Given the description of an element on the screen output the (x, y) to click on. 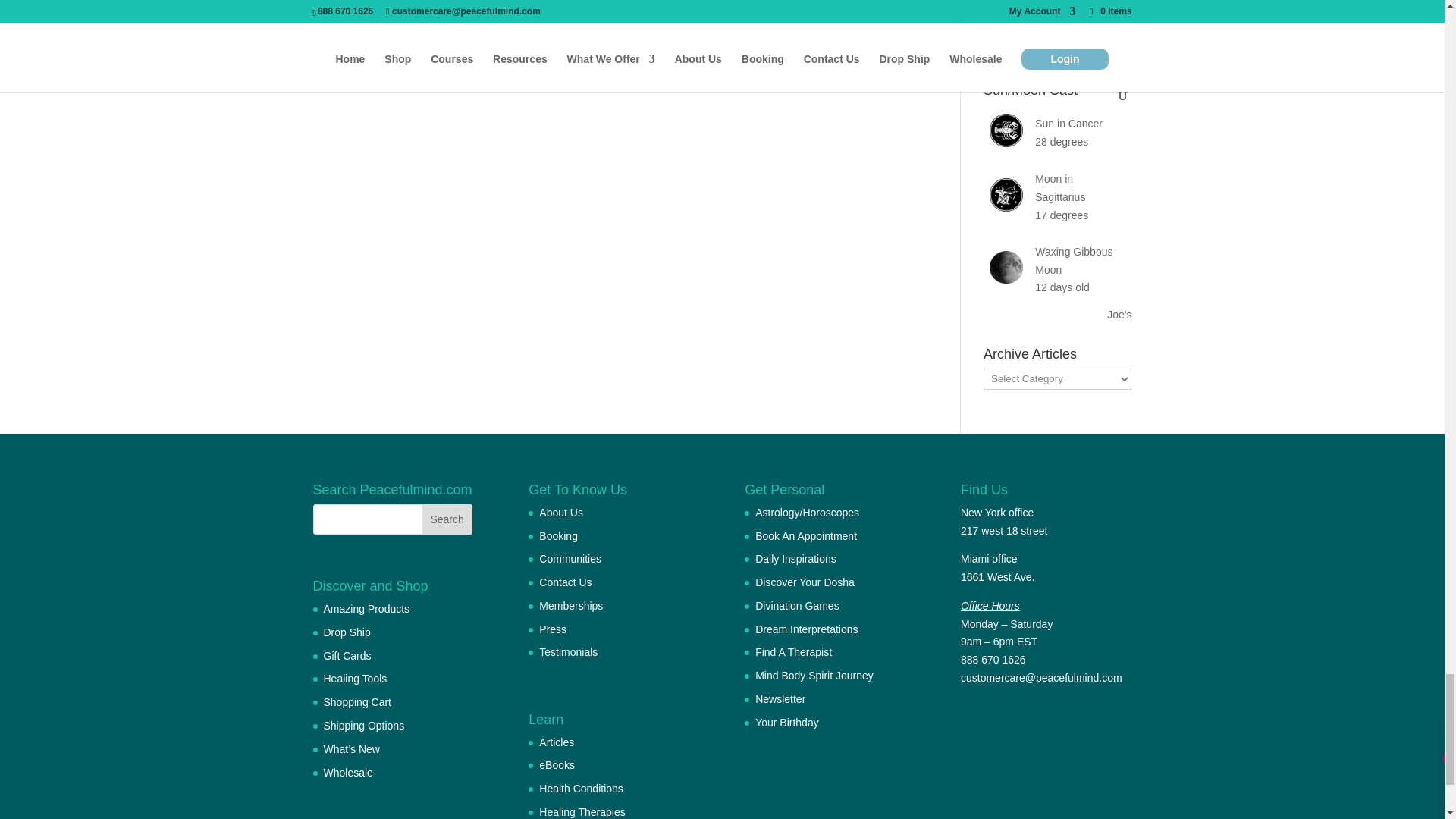
Search (446, 519)
